Given the description of an element on the screen output the (x, y) to click on. 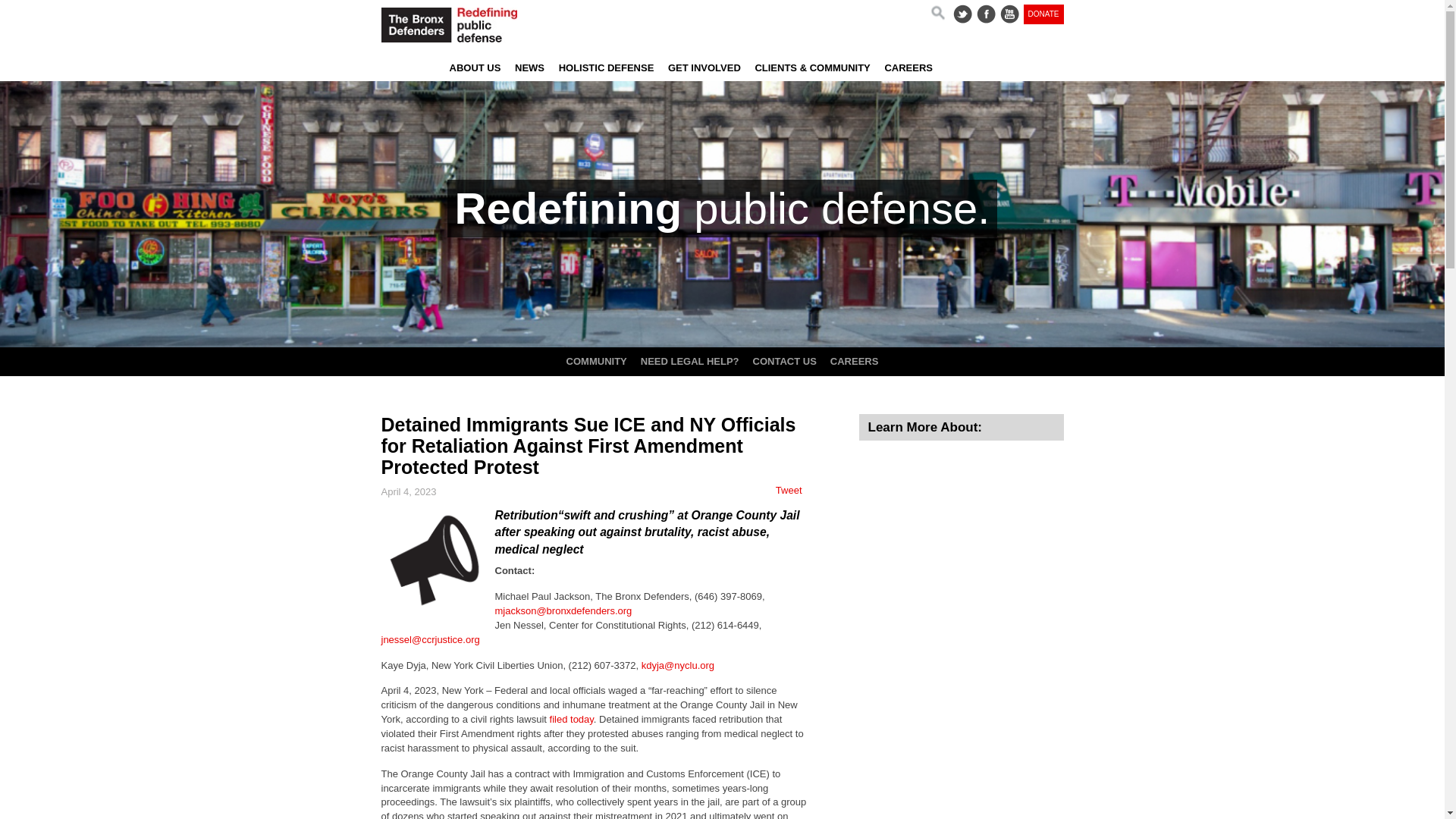
The Bronx Defenders (477, 24)
CAREERS (854, 364)
youtube (1009, 13)
facebook (985, 13)
Tweet (789, 490)
HOLISTIC DEFENSE (606, 69)
CONTACT US (784, 364)
NEWS (529, 69)
GET INVOLVED (703, 69)
Search (937, 12)
